Given the description of an element on the screen output the (x, y) to click on. 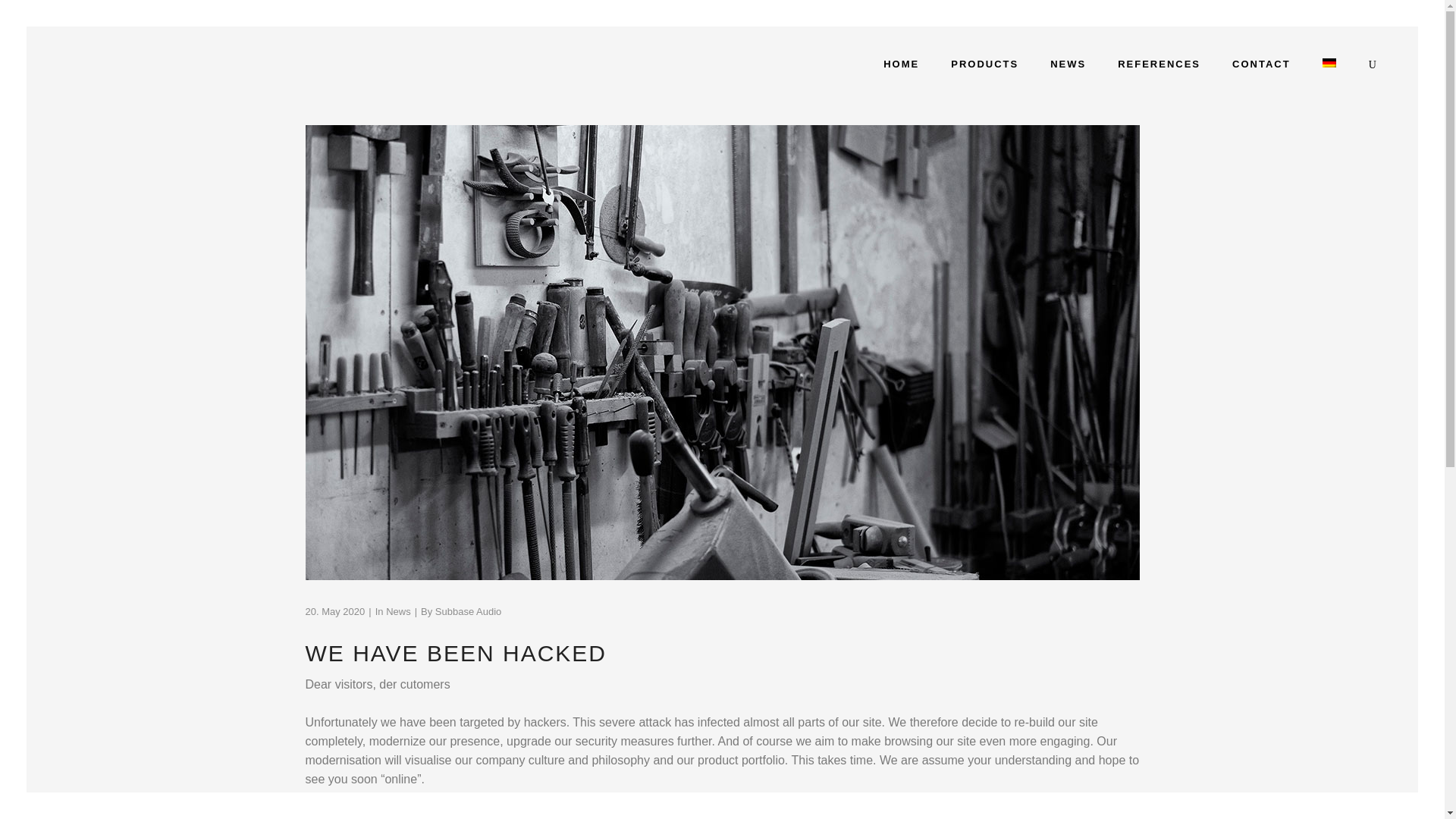
Subbase Audio (467, 611)
News (397, 611)
PRODUCTS (984, 64)
REFERENCES (1158, 64)
CONTACT (1260, 64)
